Given the description of an element on the screen output the (x, y) to click on. 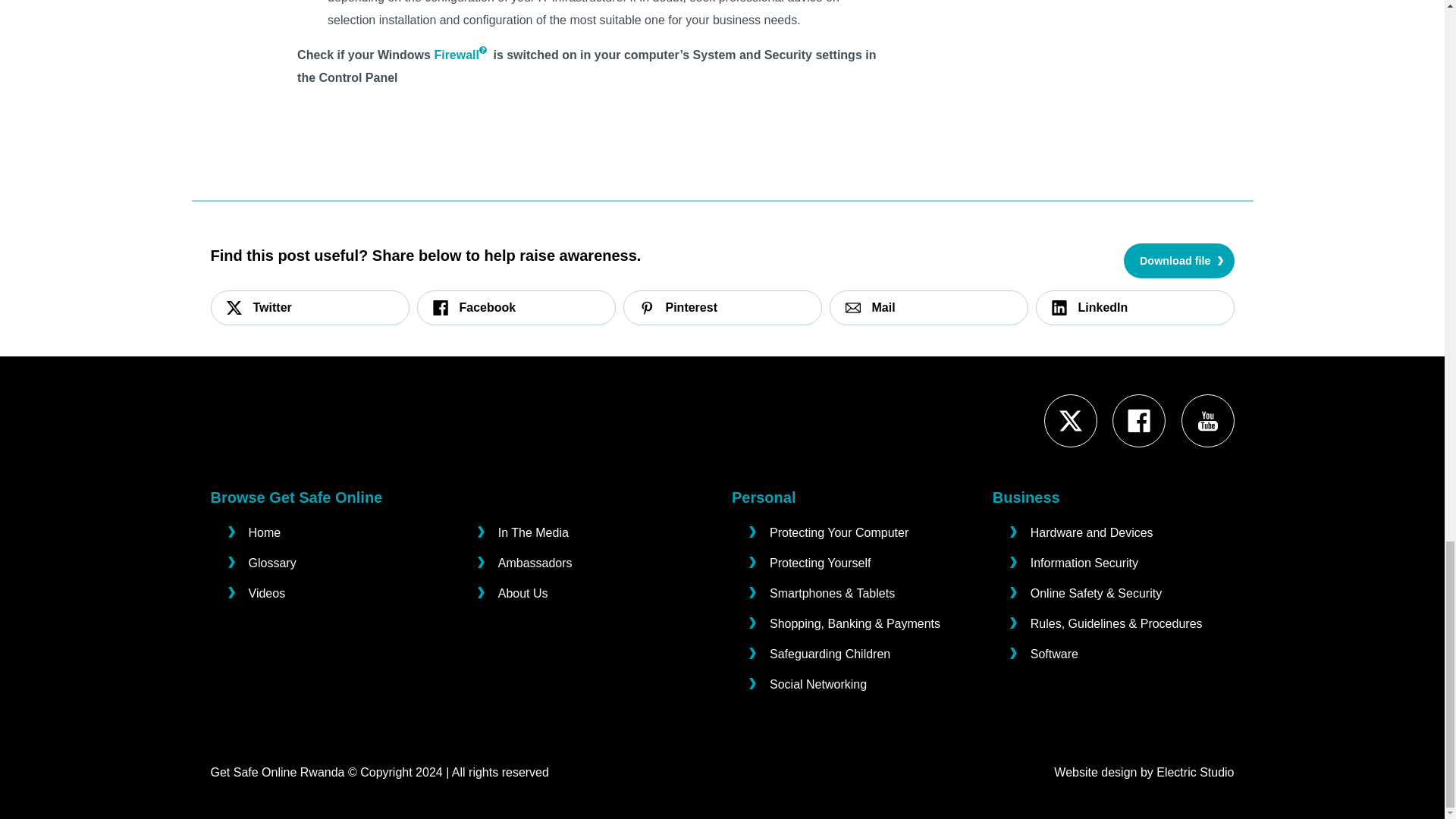
Get Safe Online Rwanda twitter (1070, 420)
Digital Agency Oxford (1194, 771)
Get Safe Online Rwanda facebook (1138, 420)
Get Safe Online Rwanda youtube (1208, 420)
